Given the description of an element on the screen output the (x, y) to click on. 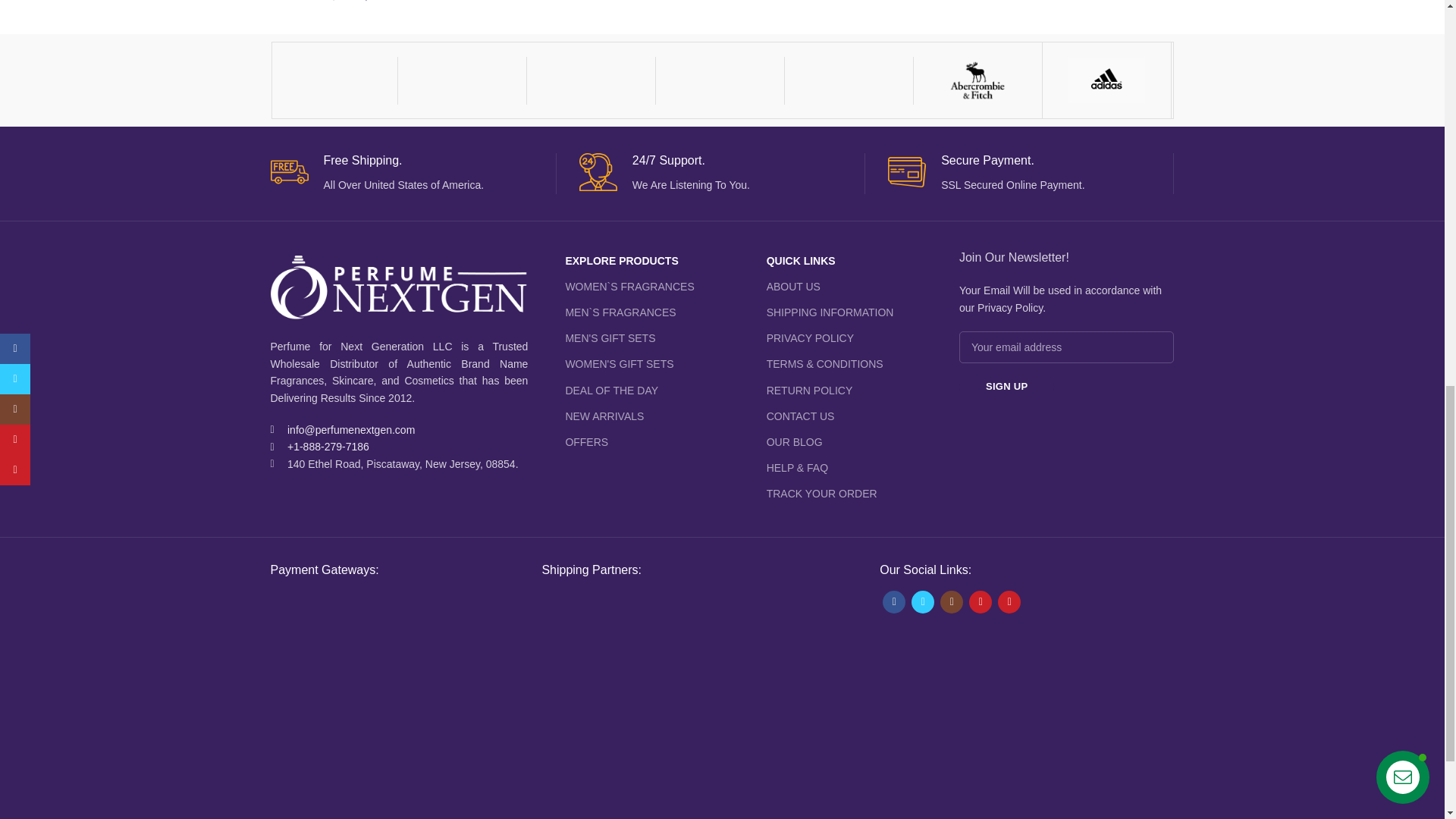
Sign up (1006, 386)
